Given the description of an element on the screen output the (x, y) to click on. 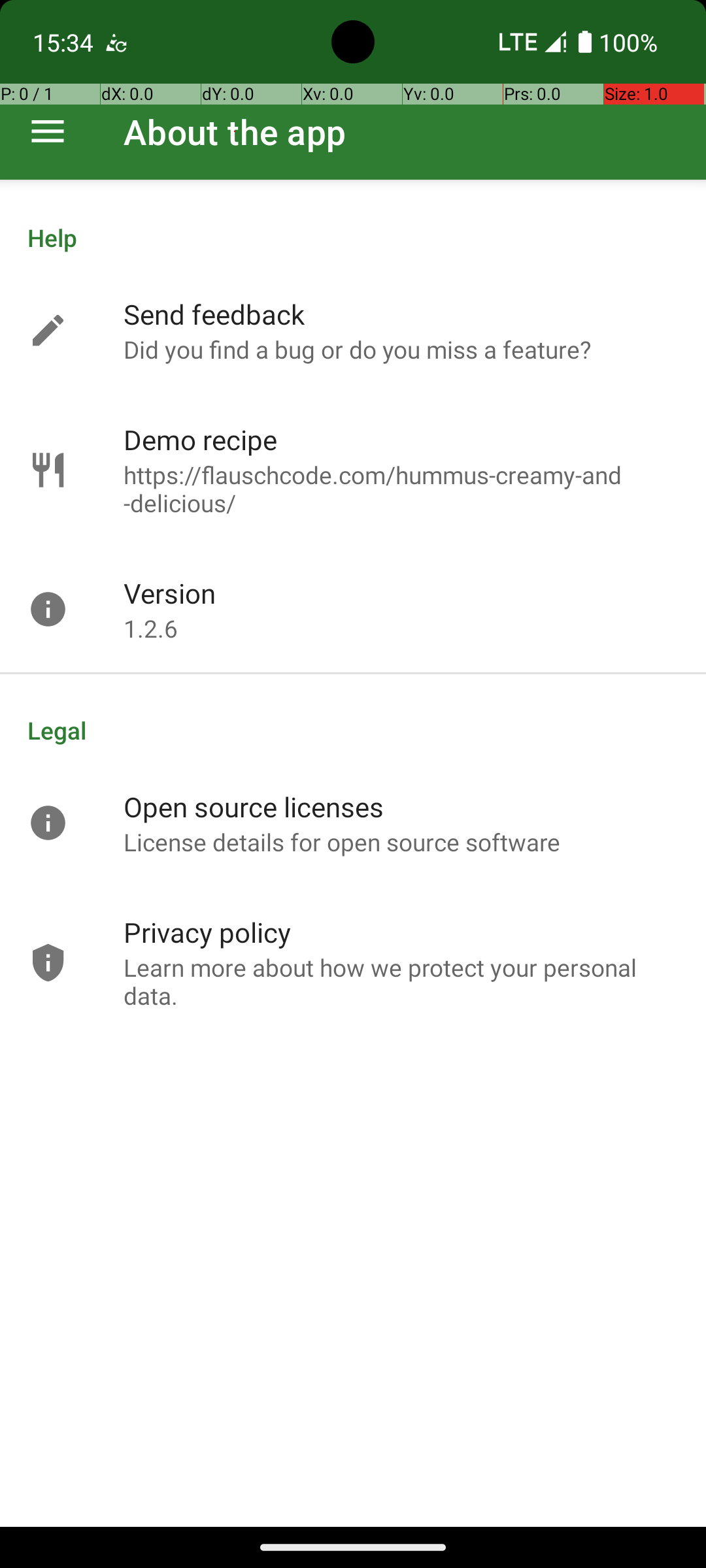
About the app Element type: android.widget.TextView (234, 131)
Send feedback Element type: android.widget.TextView (213, 313)
Did you find a bug or do you miss a feature? Element type: android.widget.TextView (356, 348)
Demo recipe Element type: android.widget.TextView (200, 438)
https://flauschcode.com/hummus-creamy-and-delicious/ Element type: android.widget.TextView (400, 488)
Version Element type: android.widget.TextView (169, 592)
1.2.6 Element type: android.widget.TextView (150, 627)
Legal Element type: android.widget.TextView (352, 729)
Open source licenses Element type: android.widget.TextView (253, 806)
License details for open source software Element type: android.widget.TextView (341, 841)
Learn more about how we protect your personal data. Element type: android.widget.TextView (400, 981)
